Given the description of an element on the screen output the (x, y) to click on. 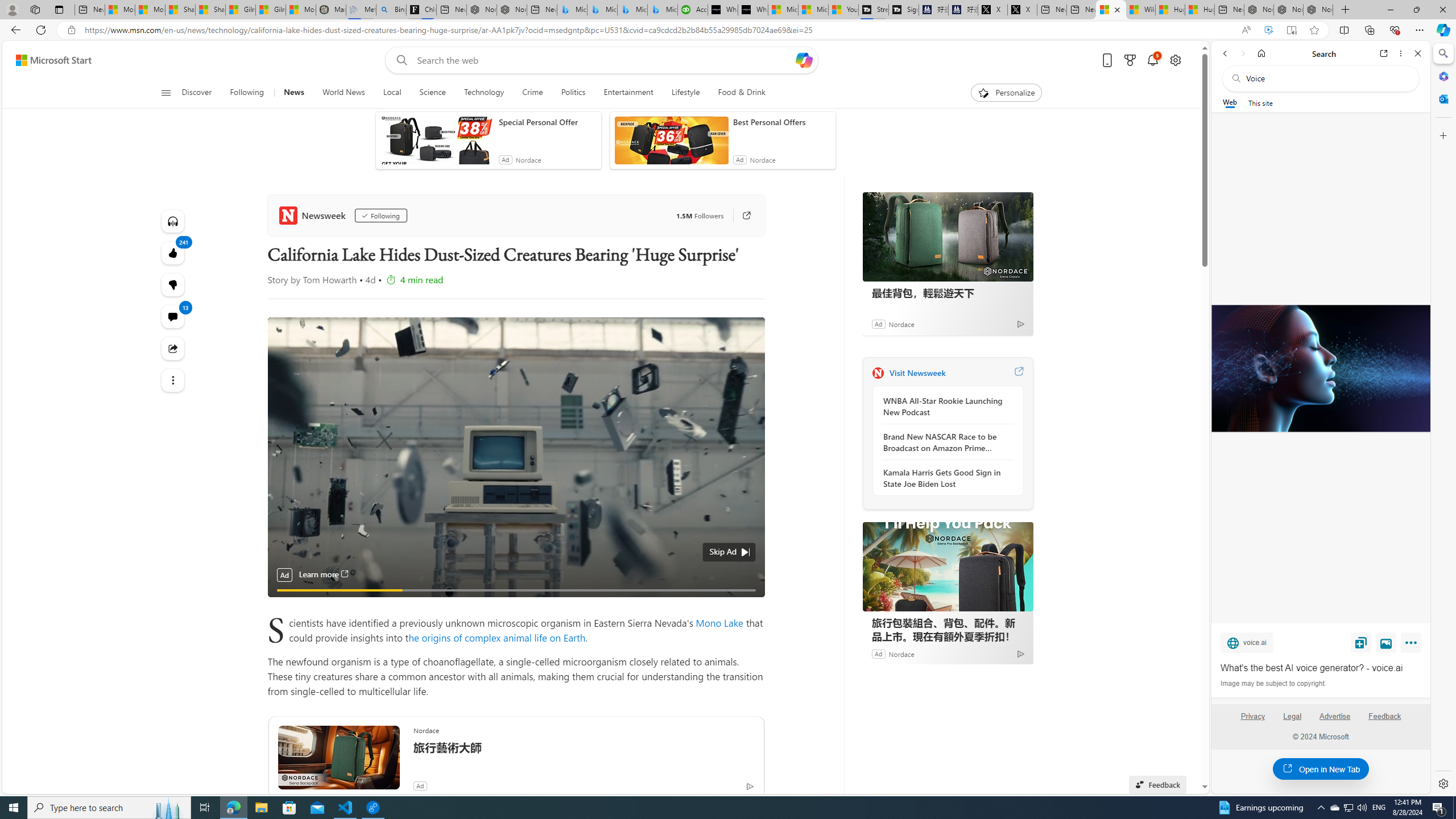
Microsoft Bing Travel - Stays in Bangkok, Bangkok, Thailand (601, 9)
anim-content (671, 144)
Ad Choice (1020, 653)
Kamala Harris Gets Good Sign in State Joe Biden Lost (944, 477)
Nordace Siena Pro 15 Backpack (1287, 9)
Pause (284, 603)
Feedback (1384, 720)
World News (343, 92)
Skip to footer (46, 59)
Share this story (172, 348)
Wildlife - MSN (1140, 9)
